Given the description of an element on the screen output the (x, y) to click on. 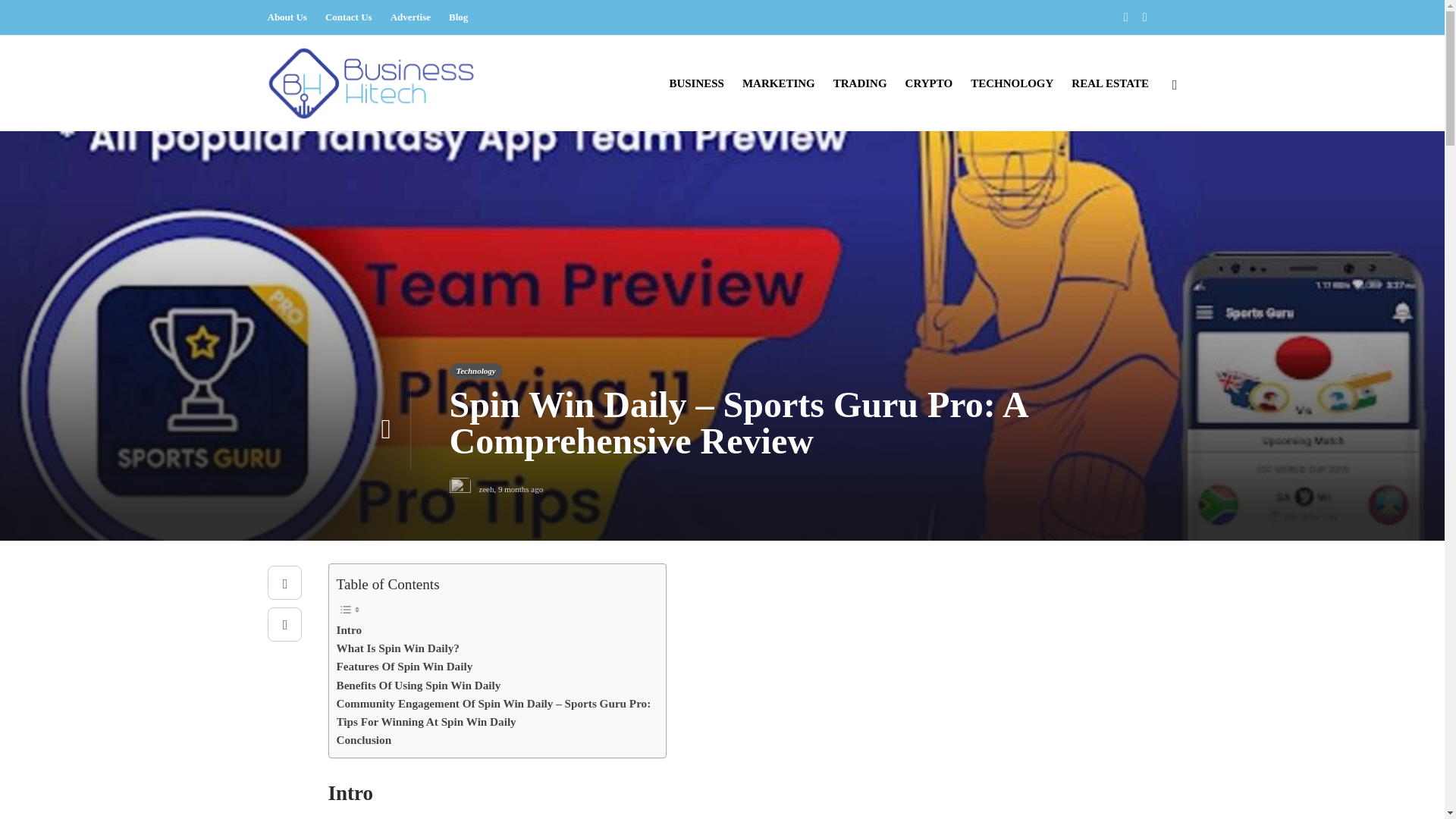
Contact Us (348, 17)
Intro (348, 629)
MARKETING (778, 83)
About Us (285, 17)
What Is Spin Win Daily? (398, 648)
BUSINESS (695, 83)
Advertise (410, 17)
Features Of Spin Win Daily (404, 666)
Benefits Of Using Spin Win Daily (418, 685)
Tips For Winning At Spin Win Daily (426, 721)
